Given the description of an element on the screen output the (x, y) to click on. 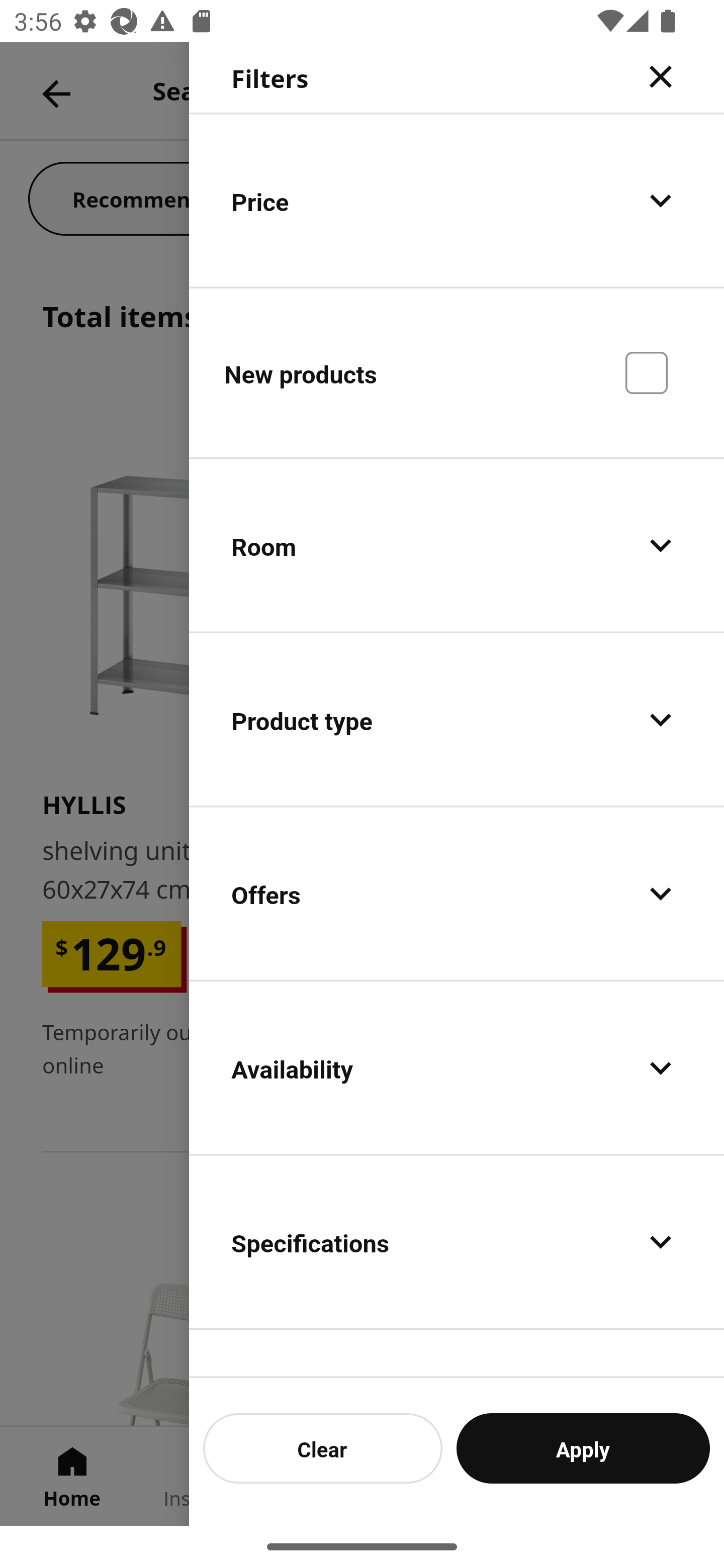
Price (456, 200)
New products (456, 371)
Room (456, 545)
Product type (456, 719)
Offers (456, 893)
Availability (456, 1067)
Specifications (456, 1241)
Clear (322, 1447)
Apply (583, 1447)
